Given the description of an element on the screen output the (x, y) to click on. 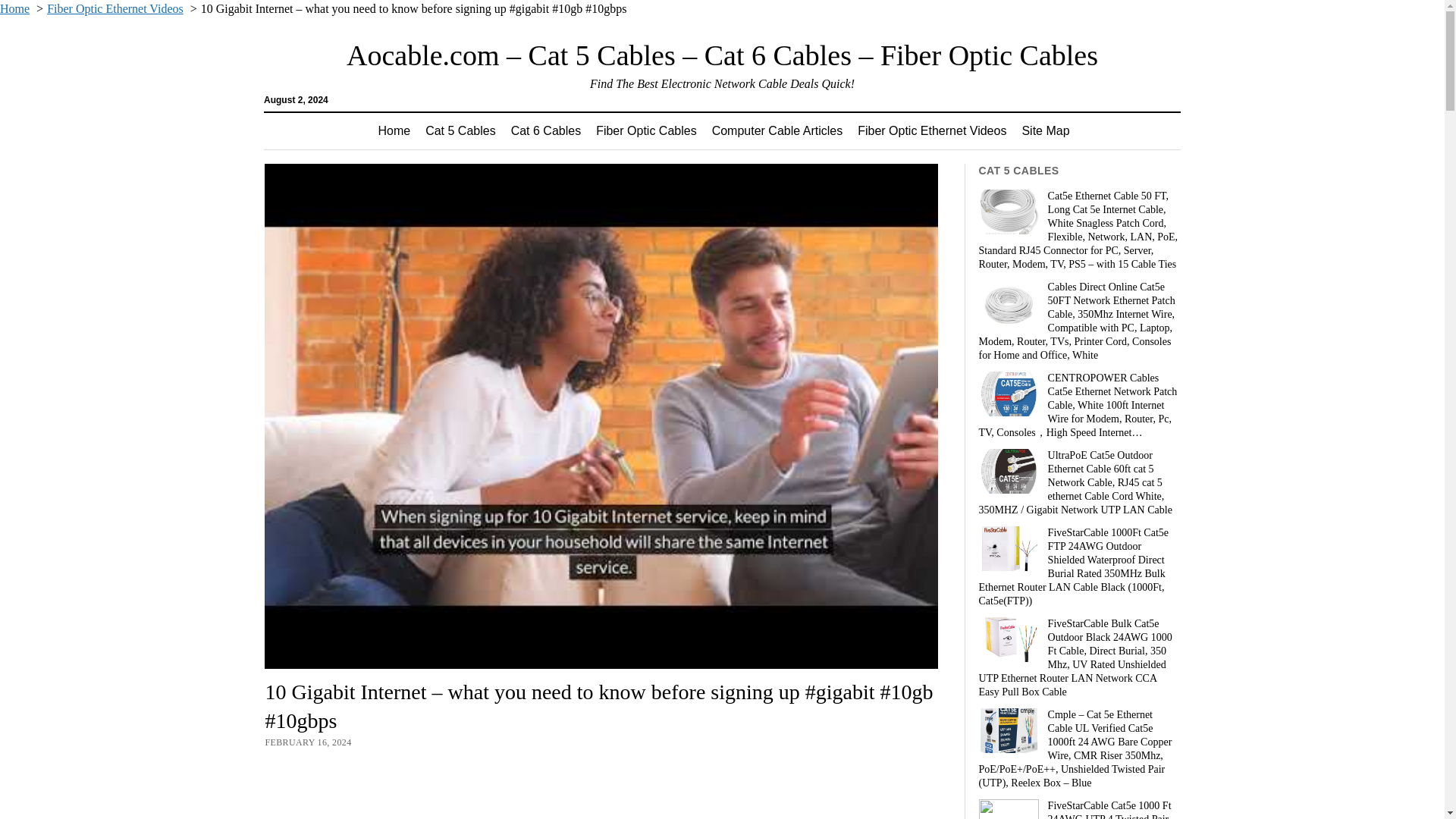
Site Map (1044, 131)
Cat 6 Cables (546, 131)
Fiber Optic Ethernet Videos (114, 8)
Home (14, 8)
Fiber Optic Cables (646, 131)
Fiber Optic Ethernet Videos (931, 131)
Computer Cable Articles (777, 131)
Cat 5 Cables (460, 131)
Home (393, 131)
